Given the description of an element on the screen output the (x, y) to click on. 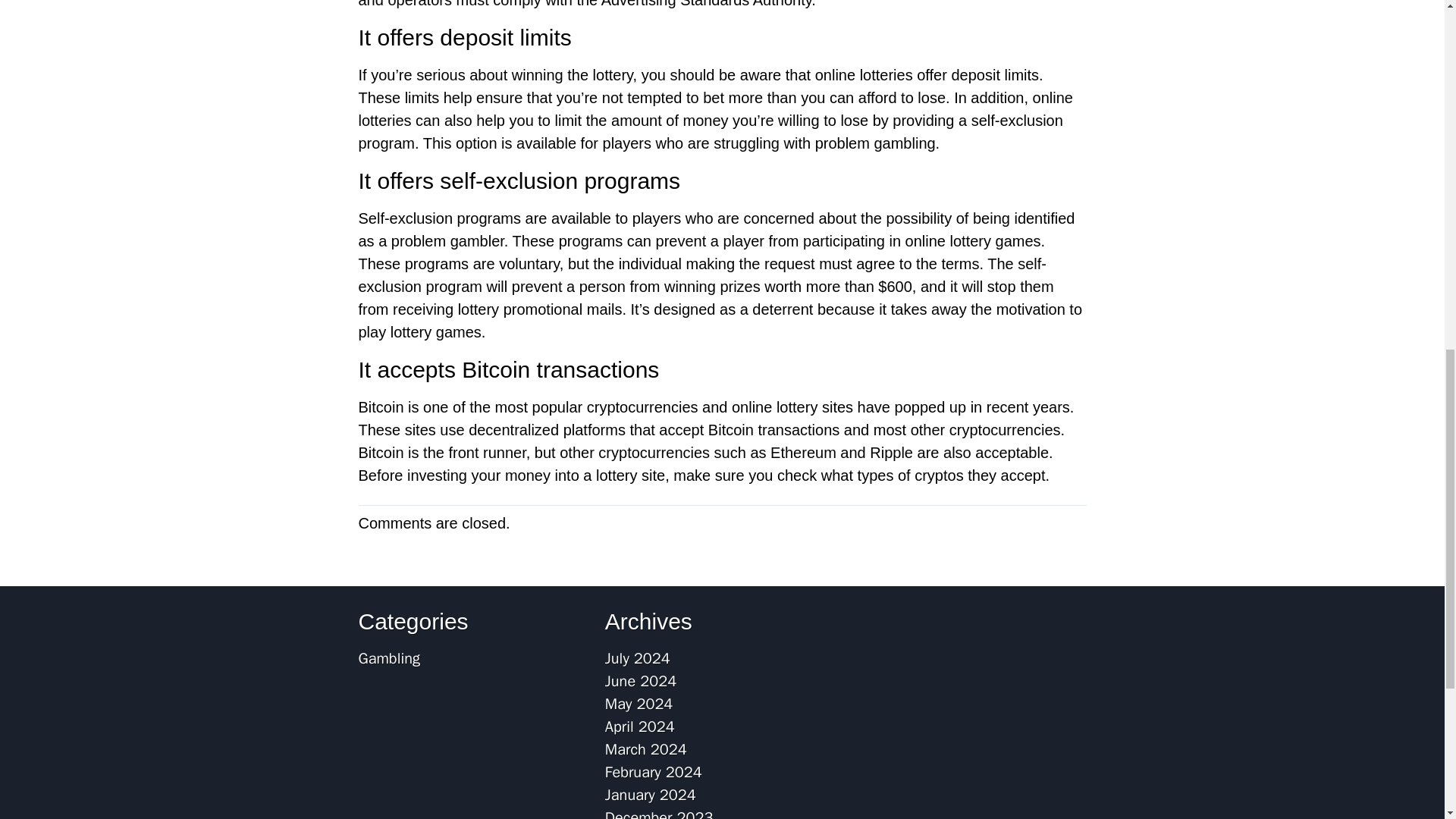
May 2024 (638, 703)
February 2024 (653, 772)
July 2024 (637, 658)
January 2024 (650, 794)
June 2024 (641, 681)
December 2023 (659, 813)
March 2024 (646, 749)
April 2024 (640, 726)
Gambling (388, 658)
